Given the description of an element on the screen output the (x, y) to click on. 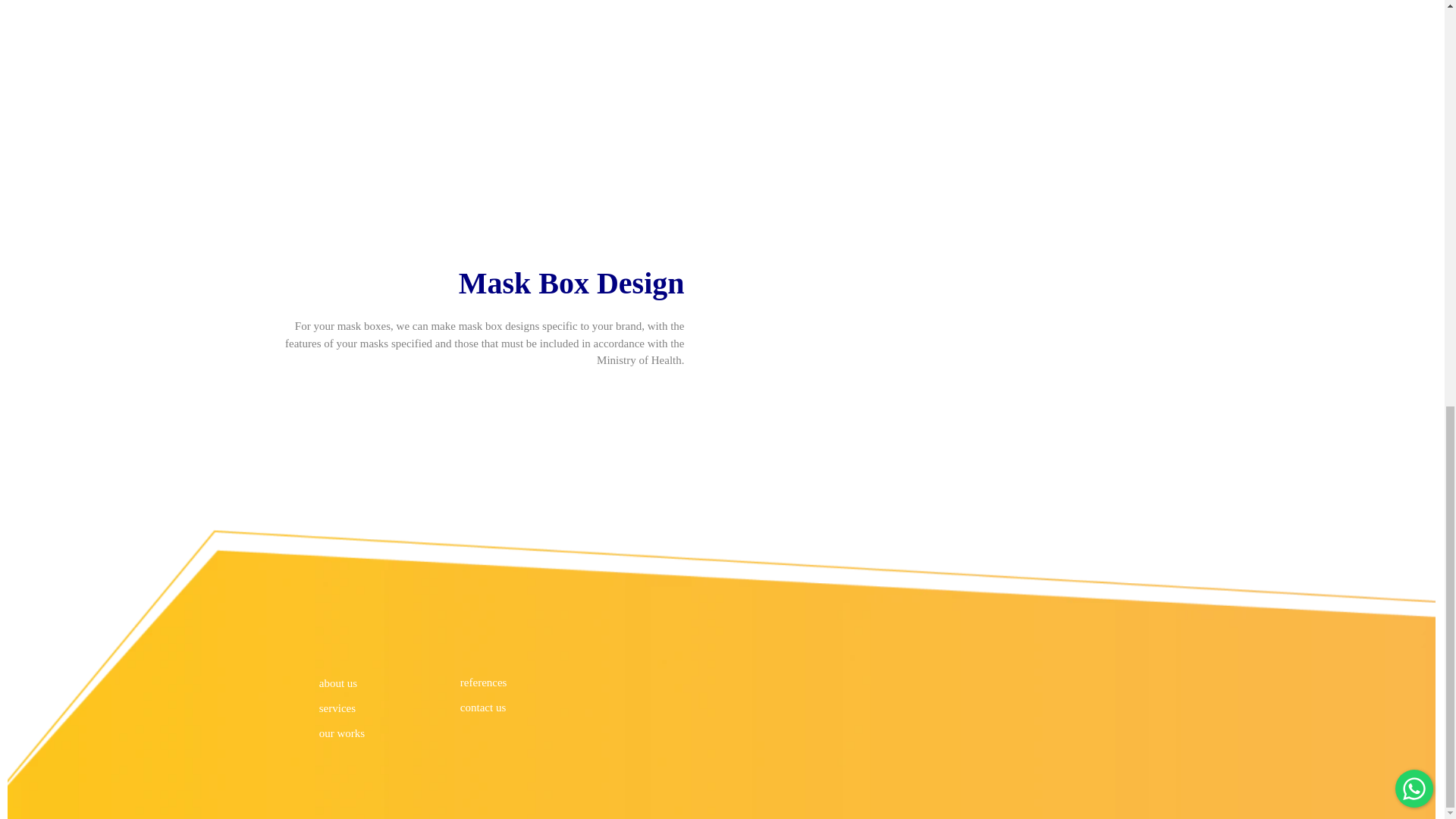
references (500, 682)
Product Box Design (471, 54)
contact us (500, 707)
services (375, 707)
about us (375, 683)
our works (375, 733)
